Given the description of an element on the screen output the (x, y) to click on. 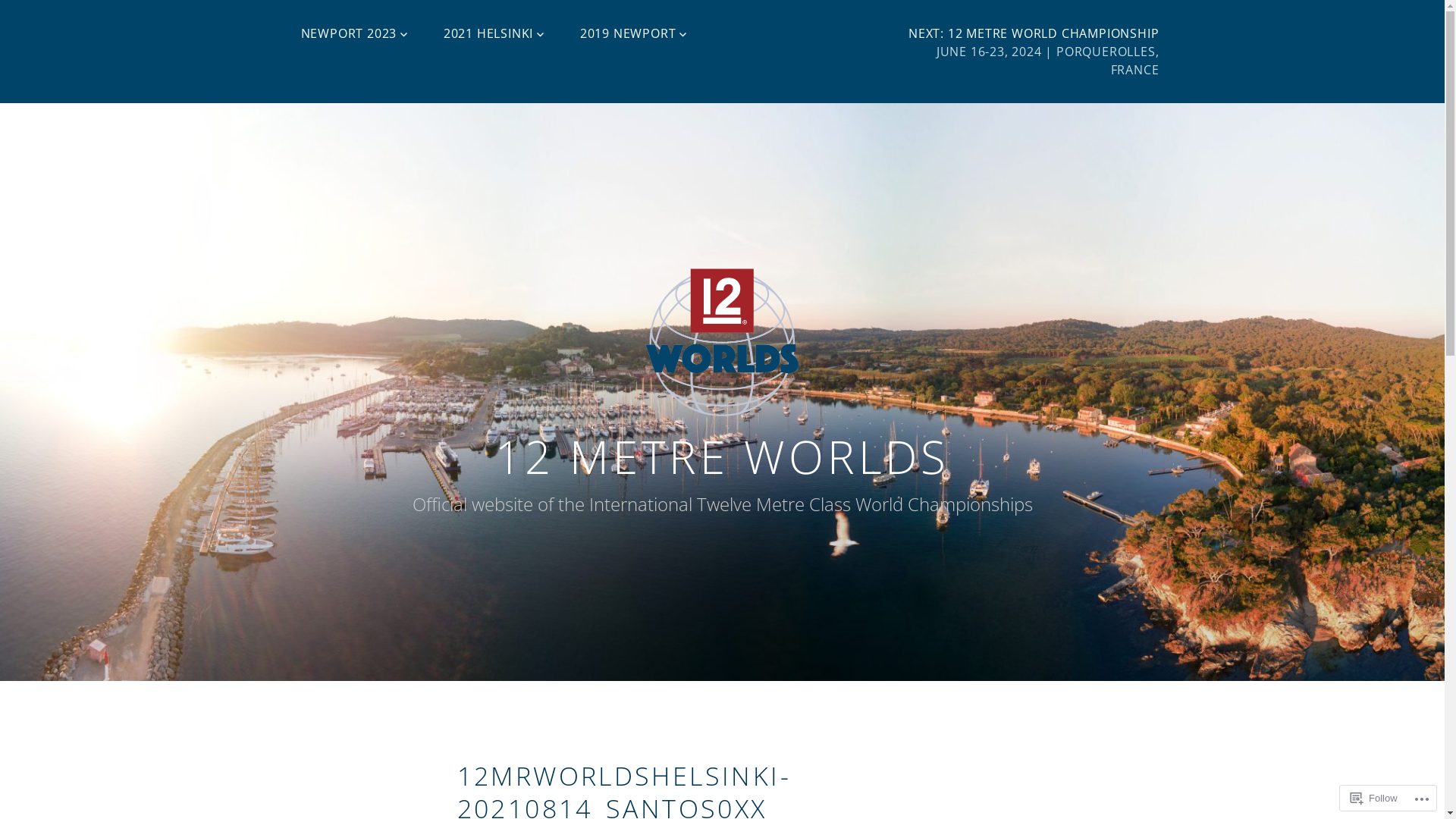
12 METRE WORLDS Element type: text (722, 456)
2019 NEWPORT Element type: text (633, 33)
Follow Element type: text (1373, 797)
NEWPORT 2023 Element type: text (354, 33)
2021 HELSINKI Element type: text (494, 33)
